Given the description of an element on the screen output the (x, y) to click on. 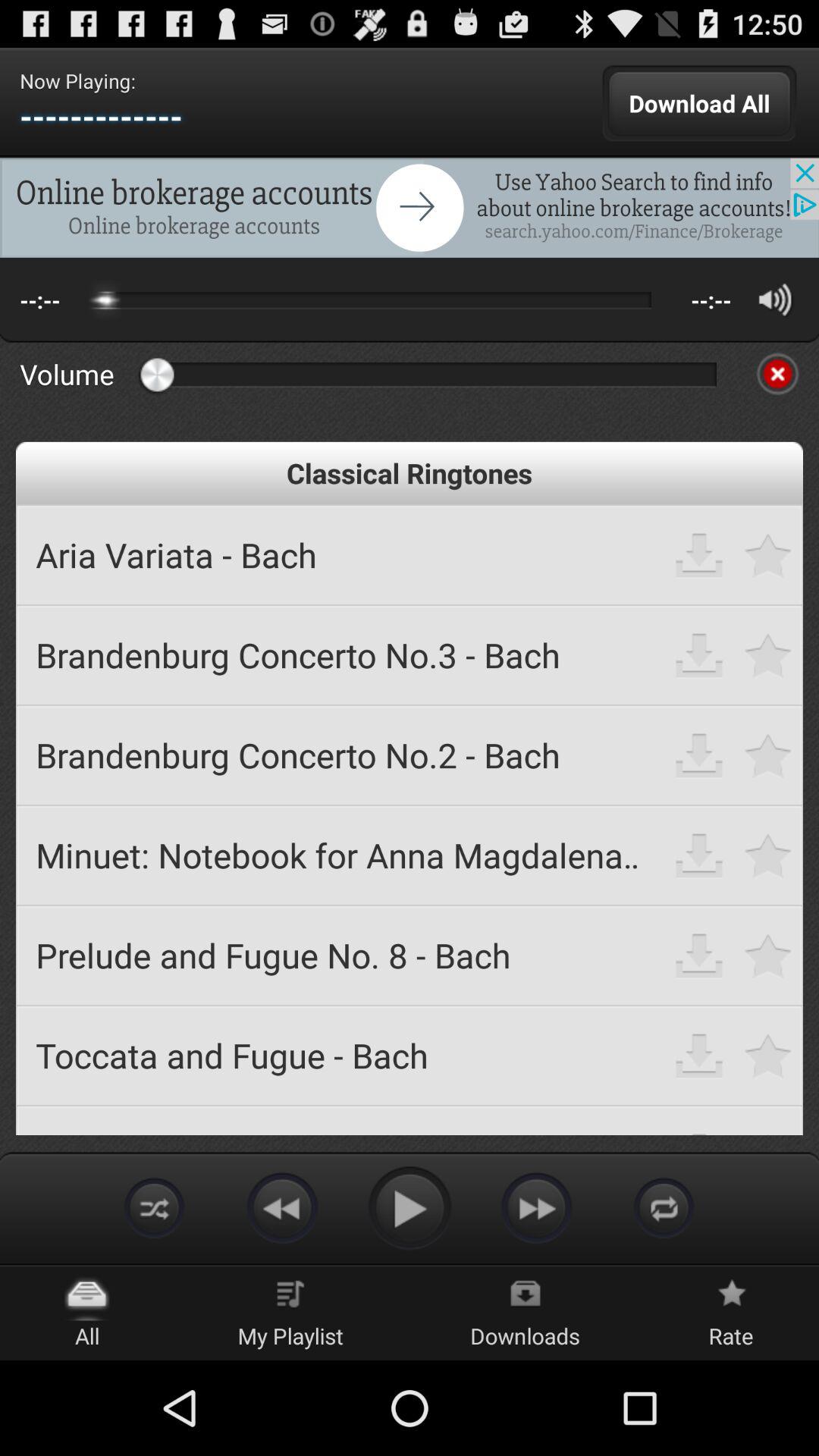
download (699, 854)
